Given the description of an element on the screen output the (x, y) to click on. 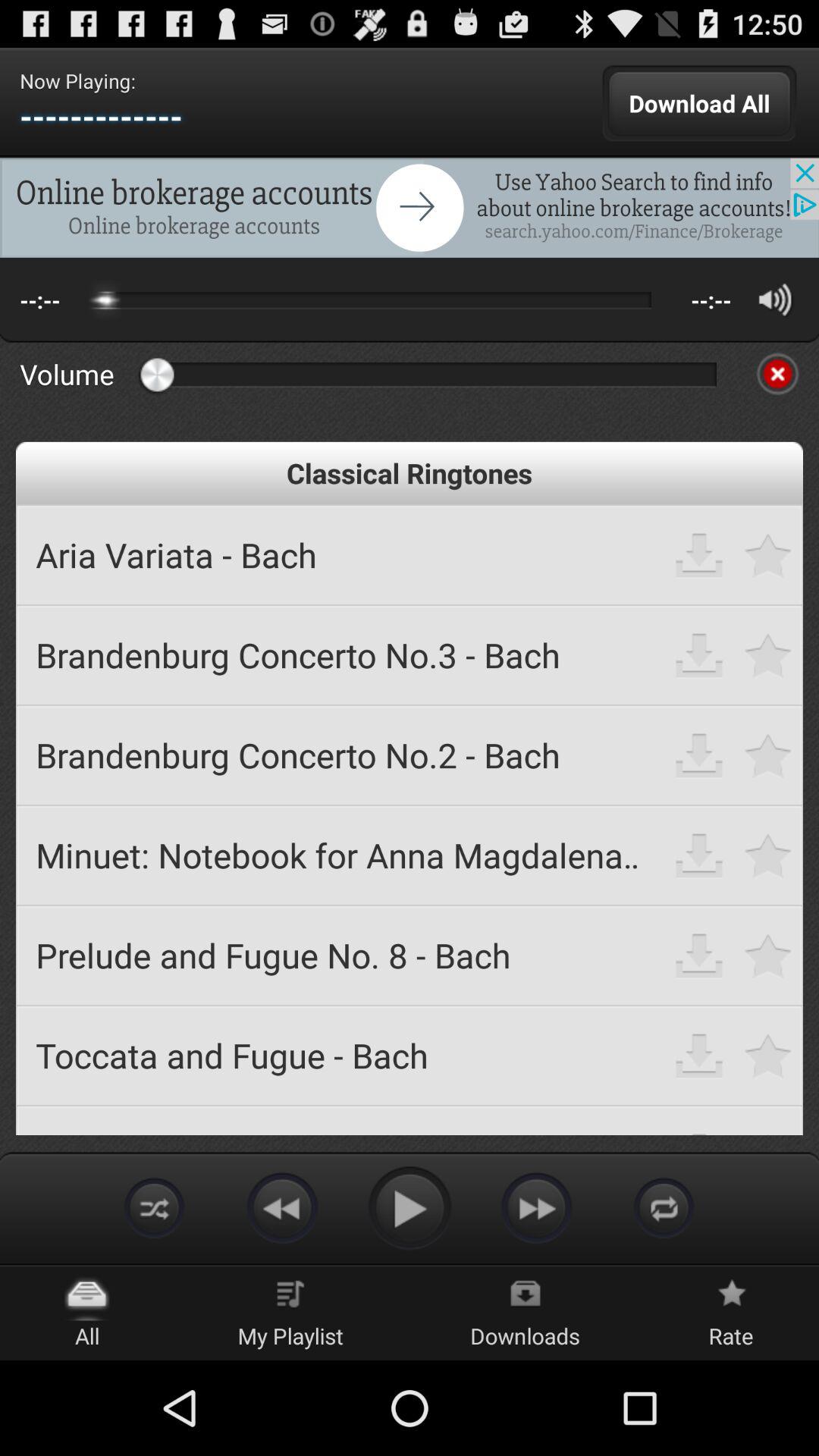
download (699, 854)
